Given the description of an element on the screen output the (x, y) to click on. 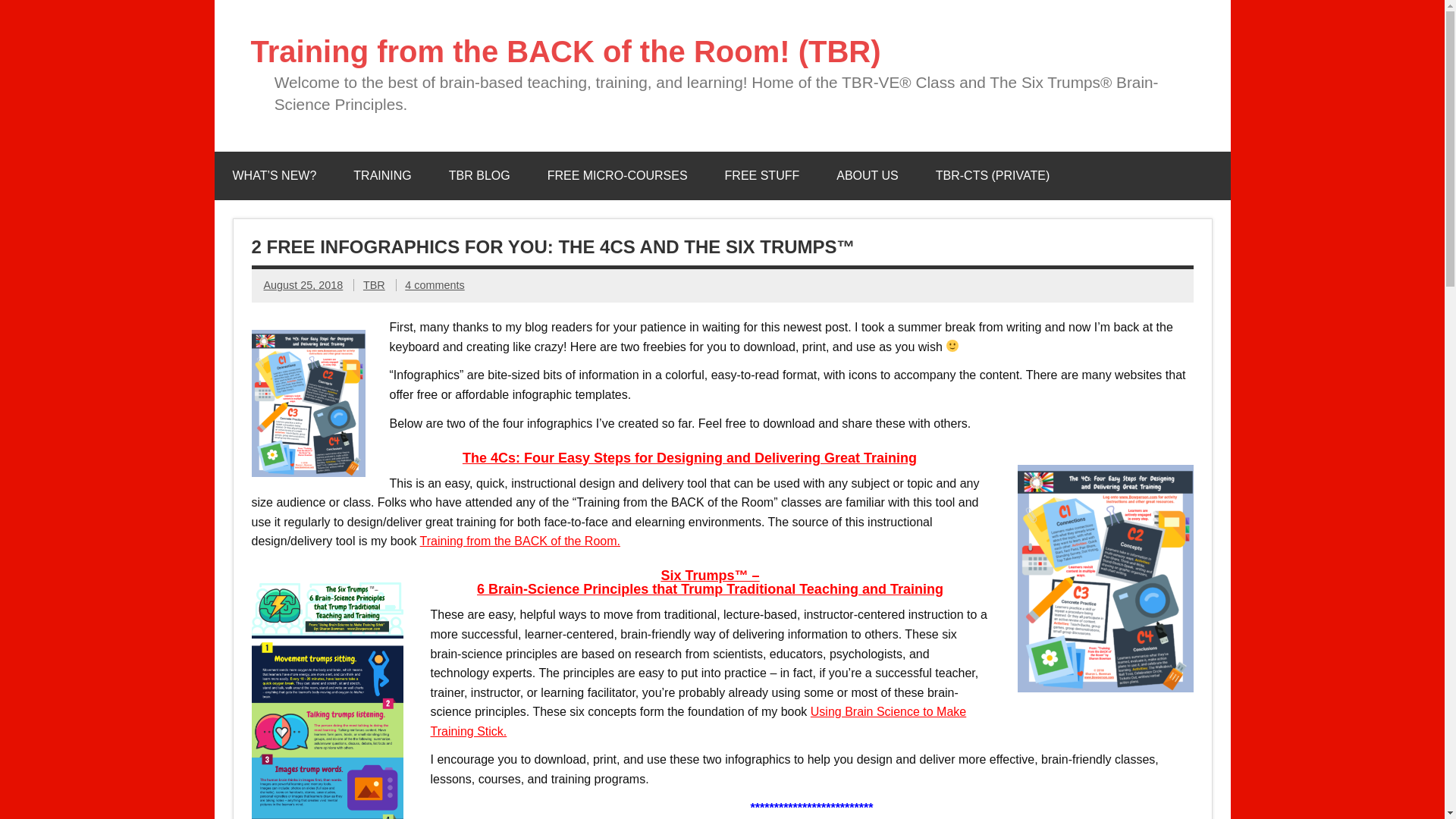
TRAINING (381, 175)
August 25, 2018 (303, 285)
FREE MICRO-COURSES (617, 175)
2:58 pm (303, 285)
TBR (373, 285)
FREE STUFF (762, 175)
View all posts by TBR (373, 285)
Using Brain Science to Make Training Stick. (698, 721)
ABOUT US (867, 175)
Public Training Calendar (381, 175)
TBR BLOG (479, 175)
Training from the BACK of the Room. (520, 540)
4 comments (434, 285)
